Given the description of an element on the screen output the (x, y) to click on. 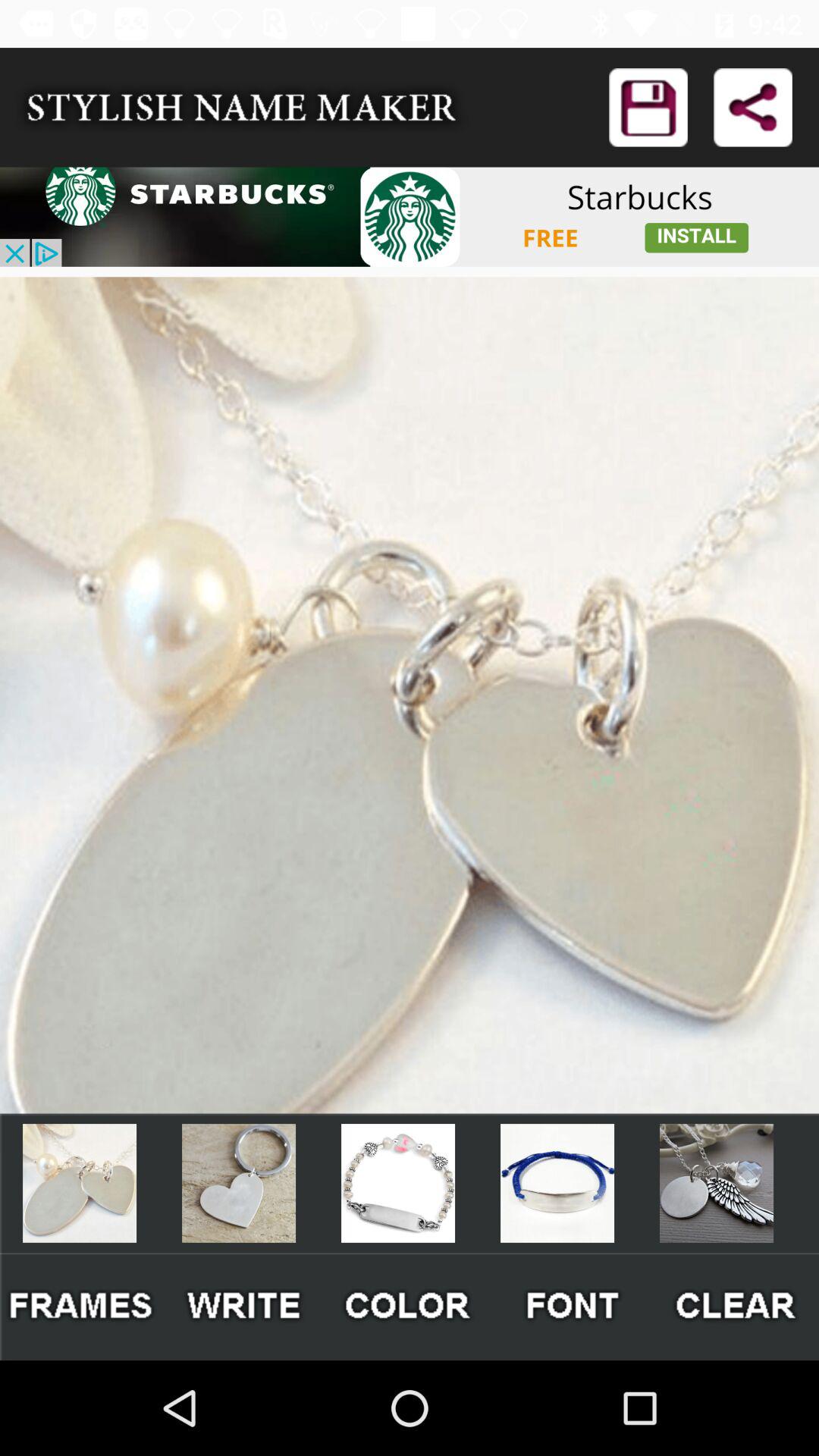
clear button (737, 1306)
